Given the description of an element on the screen output the (x, y) to click on. 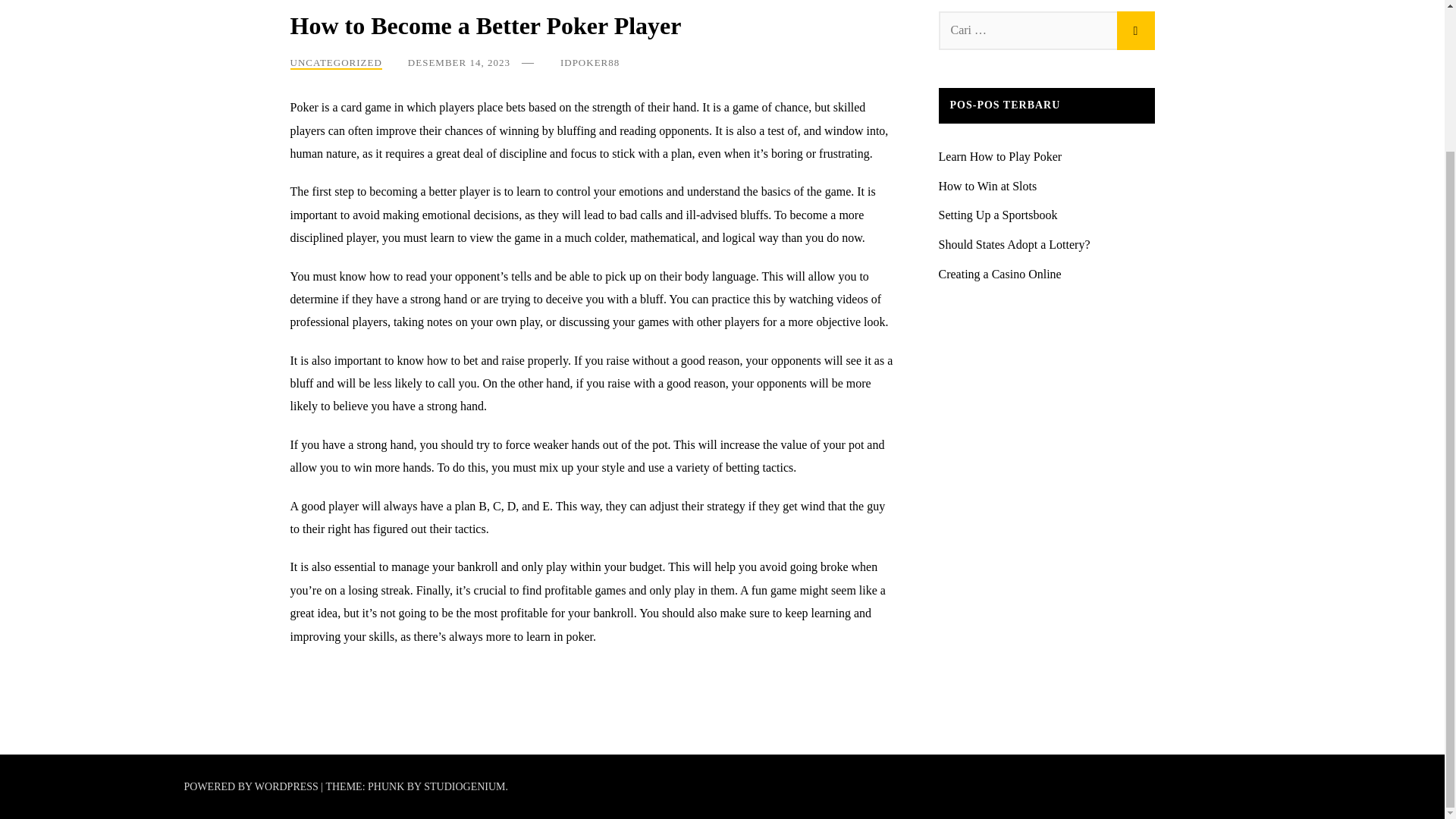
STUDIOGENIUM (464, 786)
Should States Adopt a Lottery? (1014, 244)
Creating a Casino Online (1000, 273)
Cari (1135, 30)
Cari (1135, 30)
POWERED BY WORDPRESS (251, 786)
Learn How to Play Poker (1000, 155)
Setting Up a Sportsbook (998, 214)
Cari (1135, 30)
IDPOKER88 (590, 61)
How to Win at Slots (987, 185)
DESEMBER 14, 2023 (459, 61)
UNCATEGORIZED (335, 62)
